Given the description of an element on the screen output the (x, y) to click on. 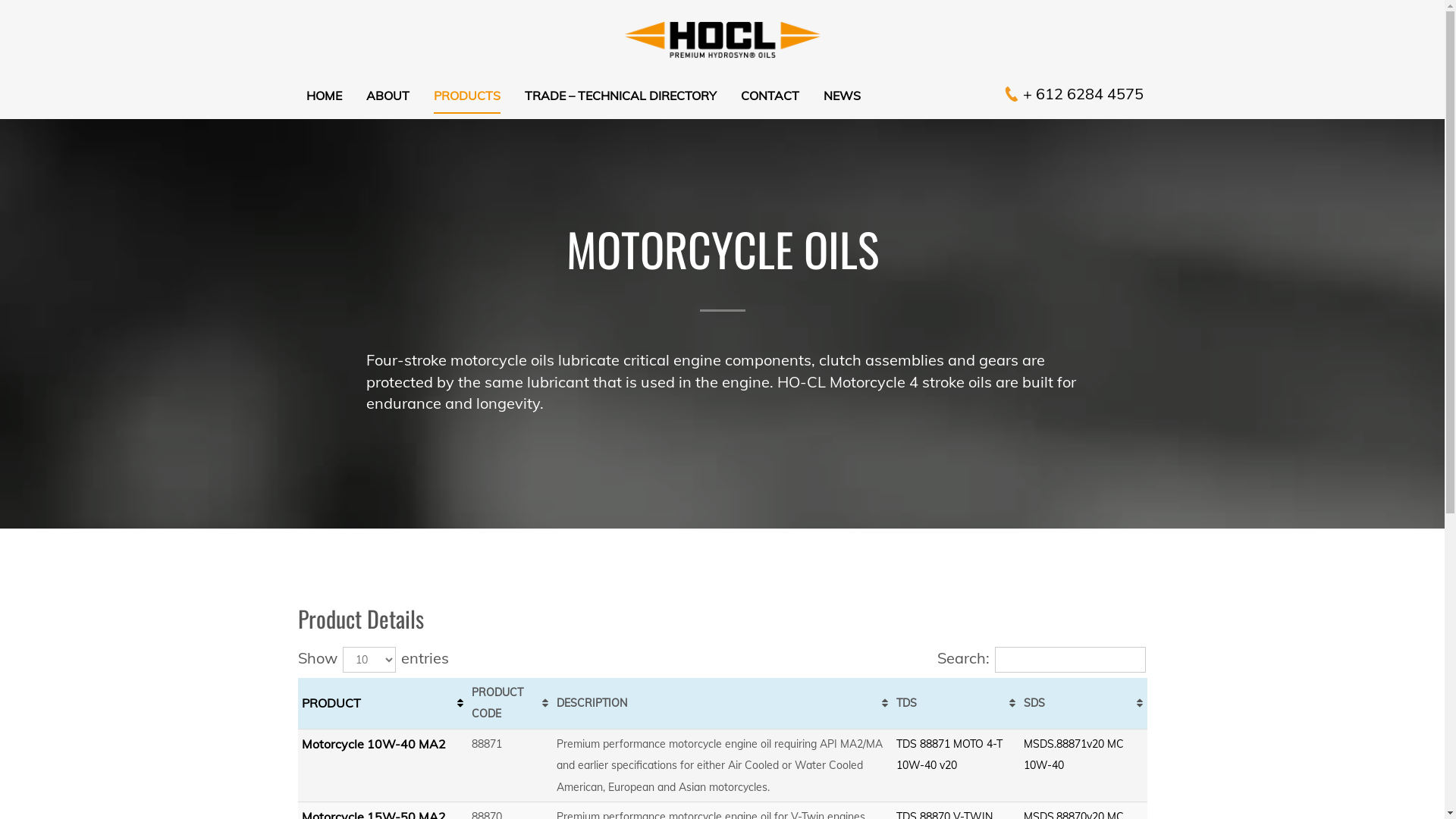
+ 612 6284 4575 Element type: text (1082, 93)
PRODUCTS Element type: text (466, 96)
TDS 88871 MOTO 4-T 10W-40 v20 Element type: text (949, 754)
CONTACT Element type: text (769, 96)
ABOUT Element type: text (386, 96)
MSDS.88871v20 MC 10W-40 Element type: text (1073, 754)
NEWS Element type: text (841, 96)
HOME Element type: text (324, 96)
